Given the description of an element on the screen output the (x, y) to click on. 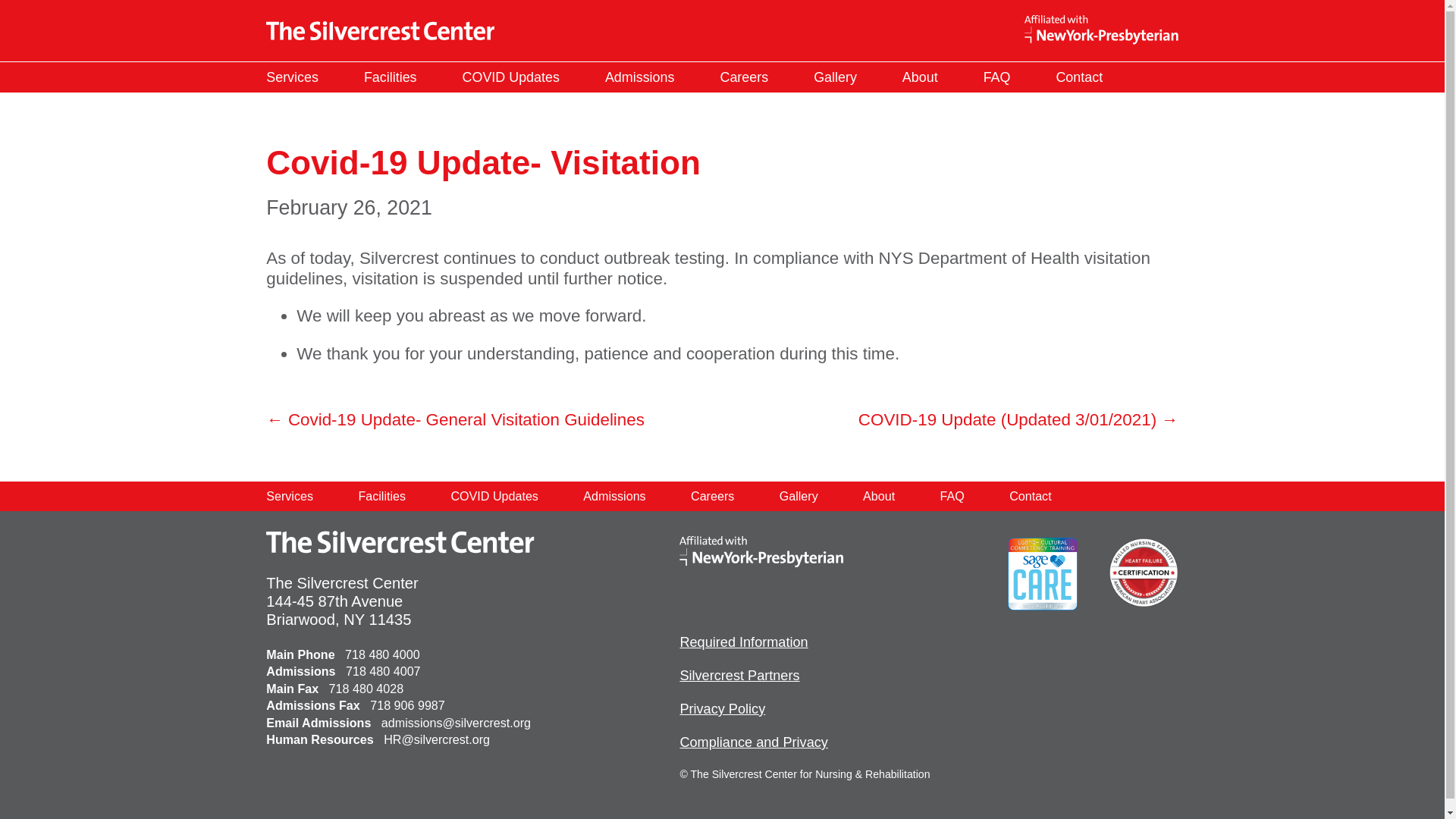
About (879, 495)
Admissions (613, 495)
Facilities (381, 495)
Careers (711, 495)
Gallery (798, 495)
COVID Updates (510, 77)
FAQ (996, 77)
Admissions (639, 77)
Services (291, 77)
Privacy Policy (722, 708)
Contact (1029, 495)
Contact (1078, 77)
Careers (744, 77)
718 480 4000 (382, 653)
Services (289, 495)
